Given the description of an element on the screen output the (x, y) to click on. 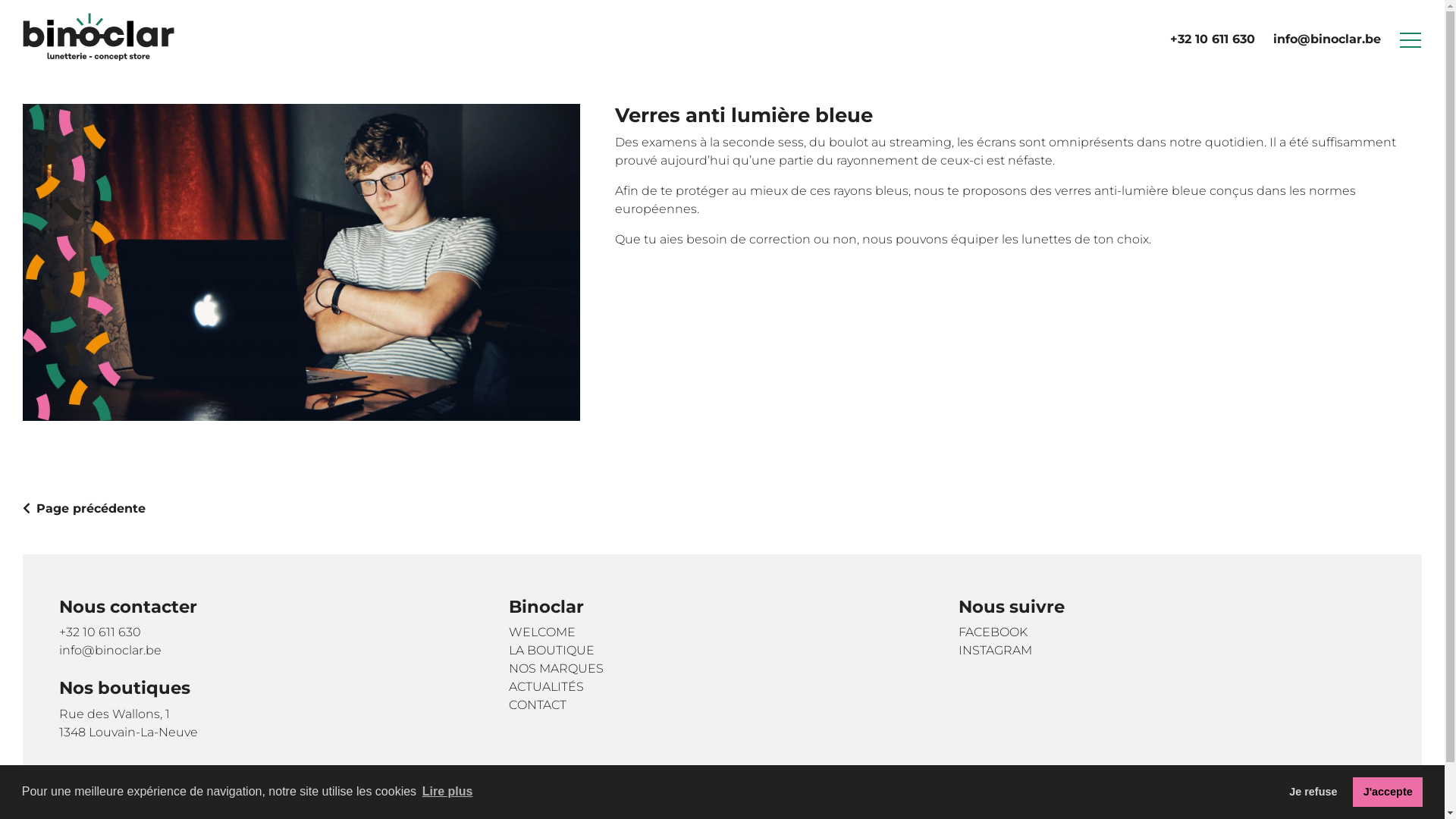
J'accepte Element type: text (1387, 791)
FACEBOOK Element type: text (1171, 632)
Je refuse Element type: text (1313, 791)
info@binoclar.be Element type: text (1326, 39)
LA BOUTIQUE Element type: text (721, 650)
+32 10 611 630 Element type: text (272, 632)
info@binoclar.be Element type: text (272, 650)
CONTACT Element type: text (721, 705)
INSTAGRAM Element type: text (1171, 650)
+32 10 611 630 Element type: text (1212, 39)
WELCOME Element type: text (721, 632)
Lire plus Element type: text (447, 791)
NOS MARQUES Element type: text (721, 668)
